Given the description of an element on the screen output the (x, y) to click on. 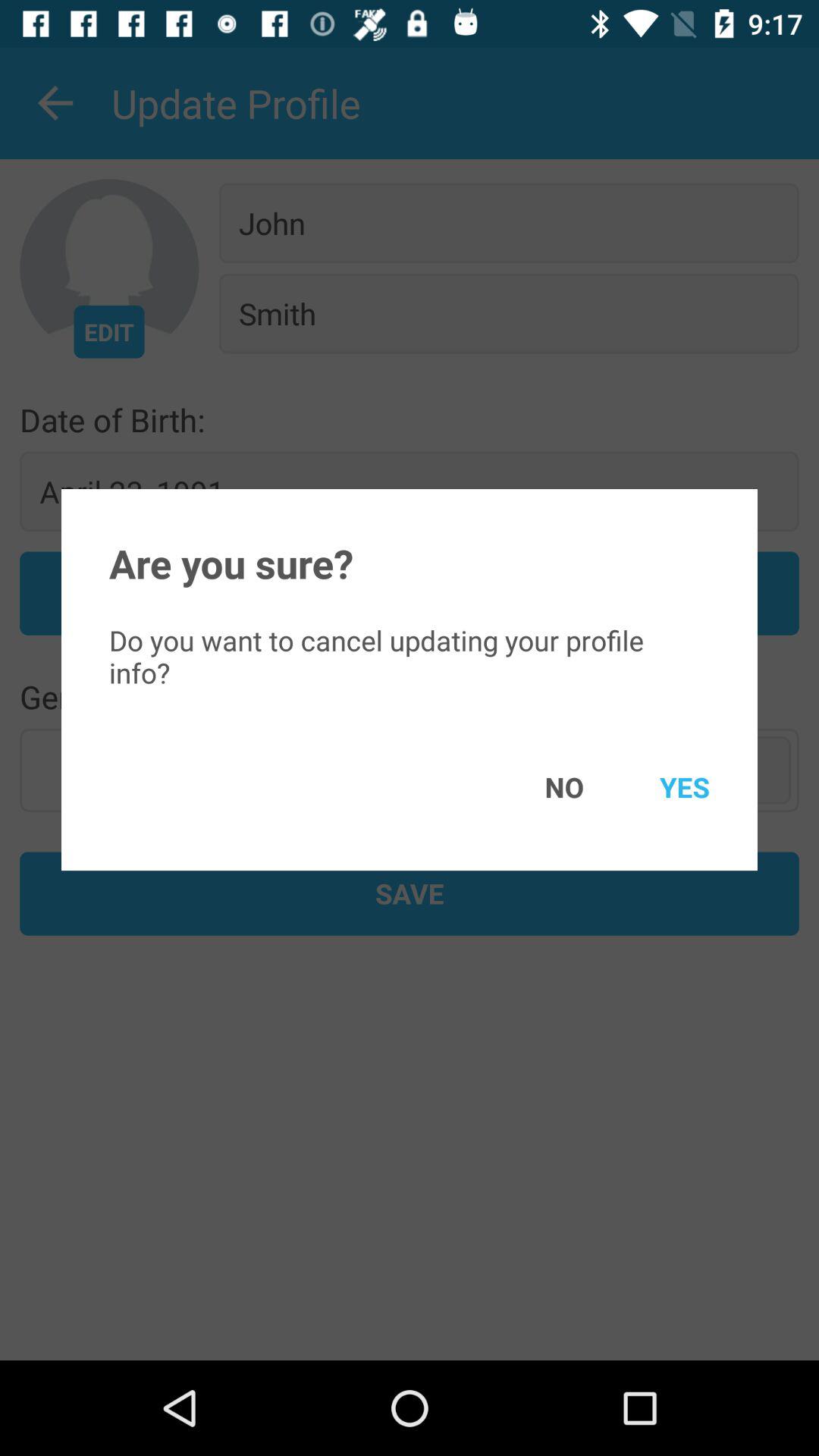
launch the icon on the right (662, 786)
